Given the description of an element on the screen output the (x, y) to click on. 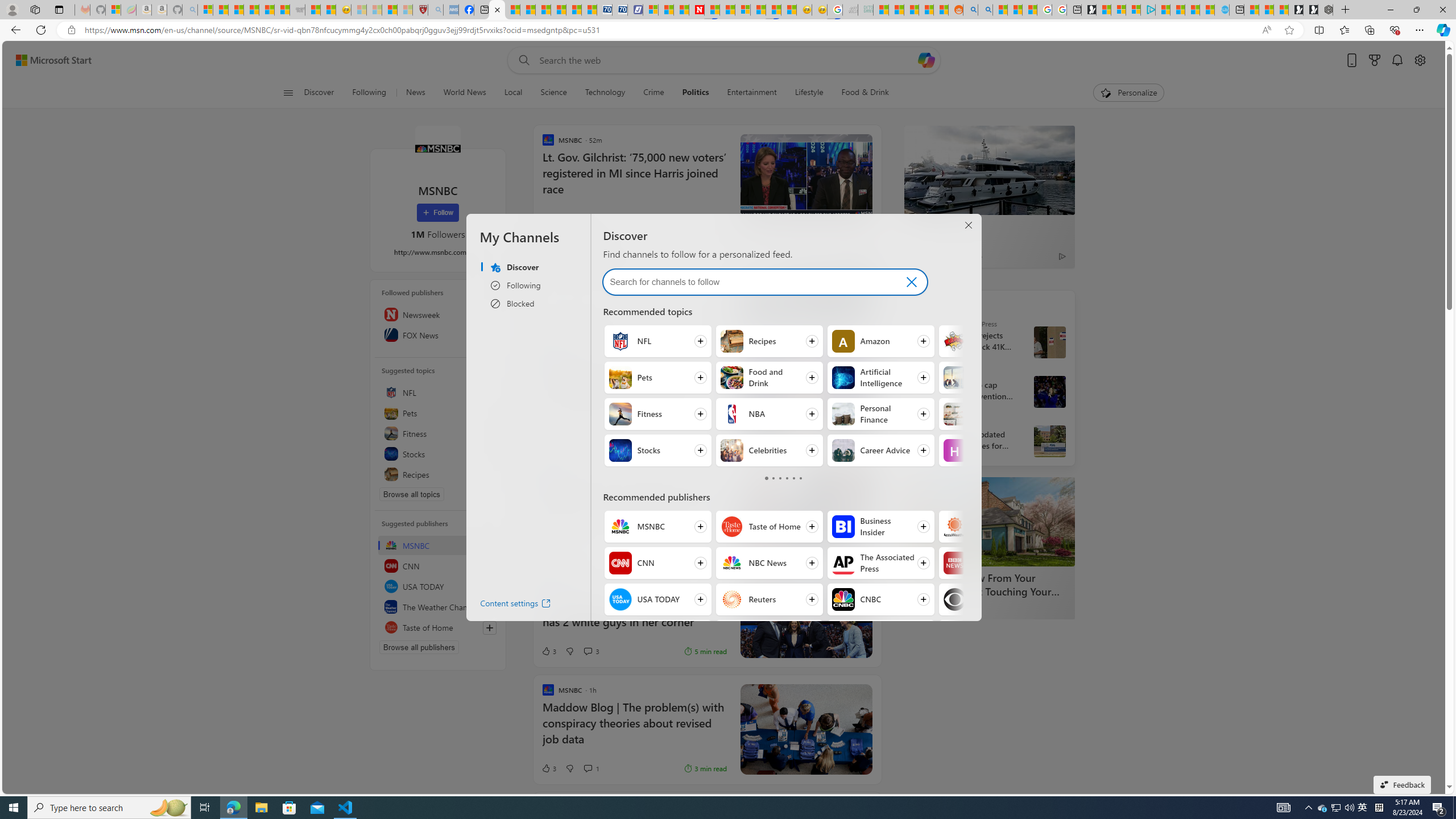
MSNBC (437, 148)
Stocks (619, 449)
Cheap Hotels - Save70.com (619, 9)
Reuters (927, 372)
Follow Fox Business (880, 635)
NFL (619, 341)
